Given the description of an element on the screen output the (x, y) to click on. 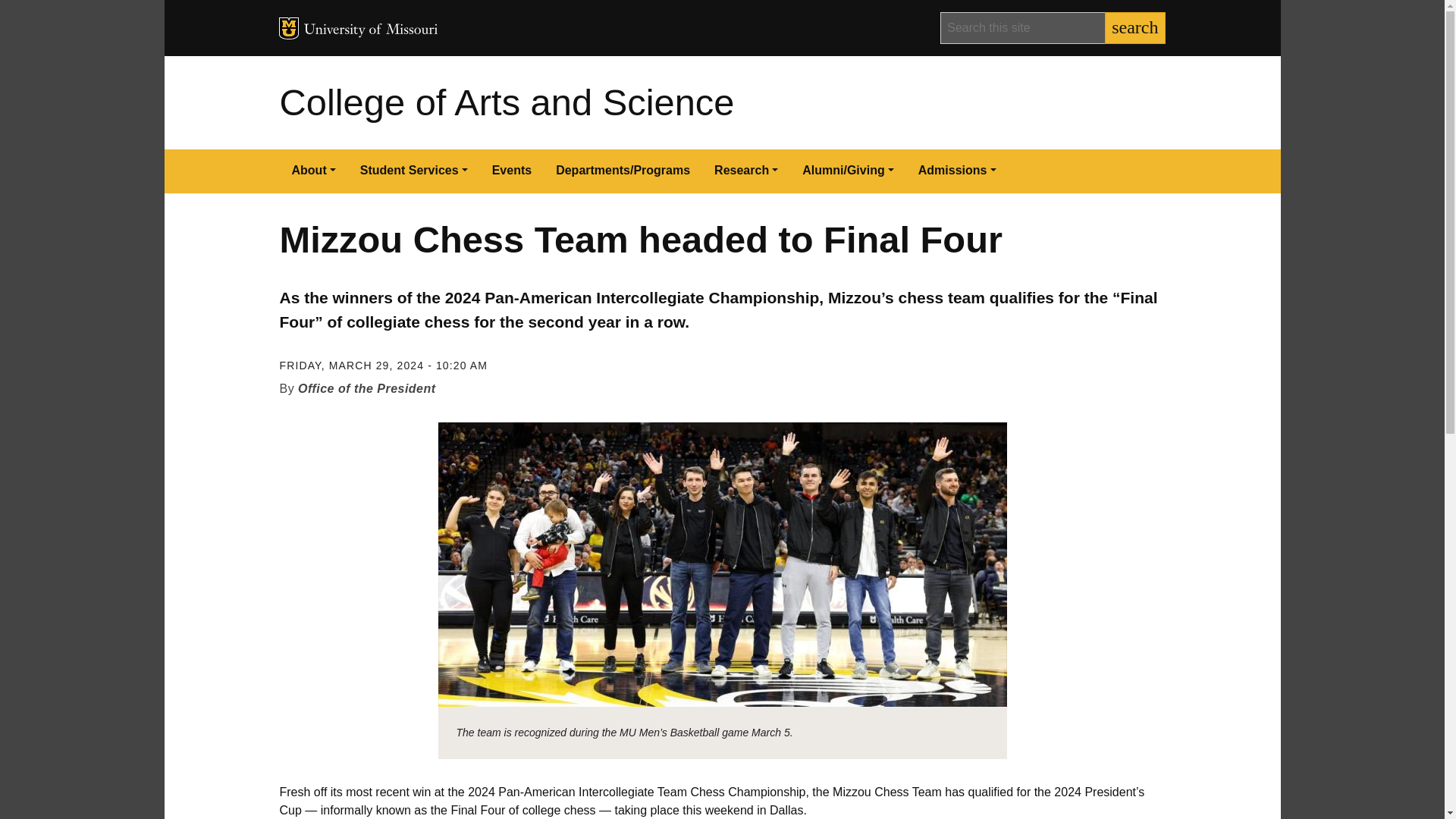
University of Missouri (370, 30)
College of Arts and Science (506, 101)
Events (511, 171)
MU Logo (288, 27)
College of Arts and Science (506, 101)
Research (745, 171)
search (1134, 28)
Student Services (413, 171)
About (313, 171)
Admissions (957, 171)
